Given the description of an element on the screen output the (x, y) to click on. 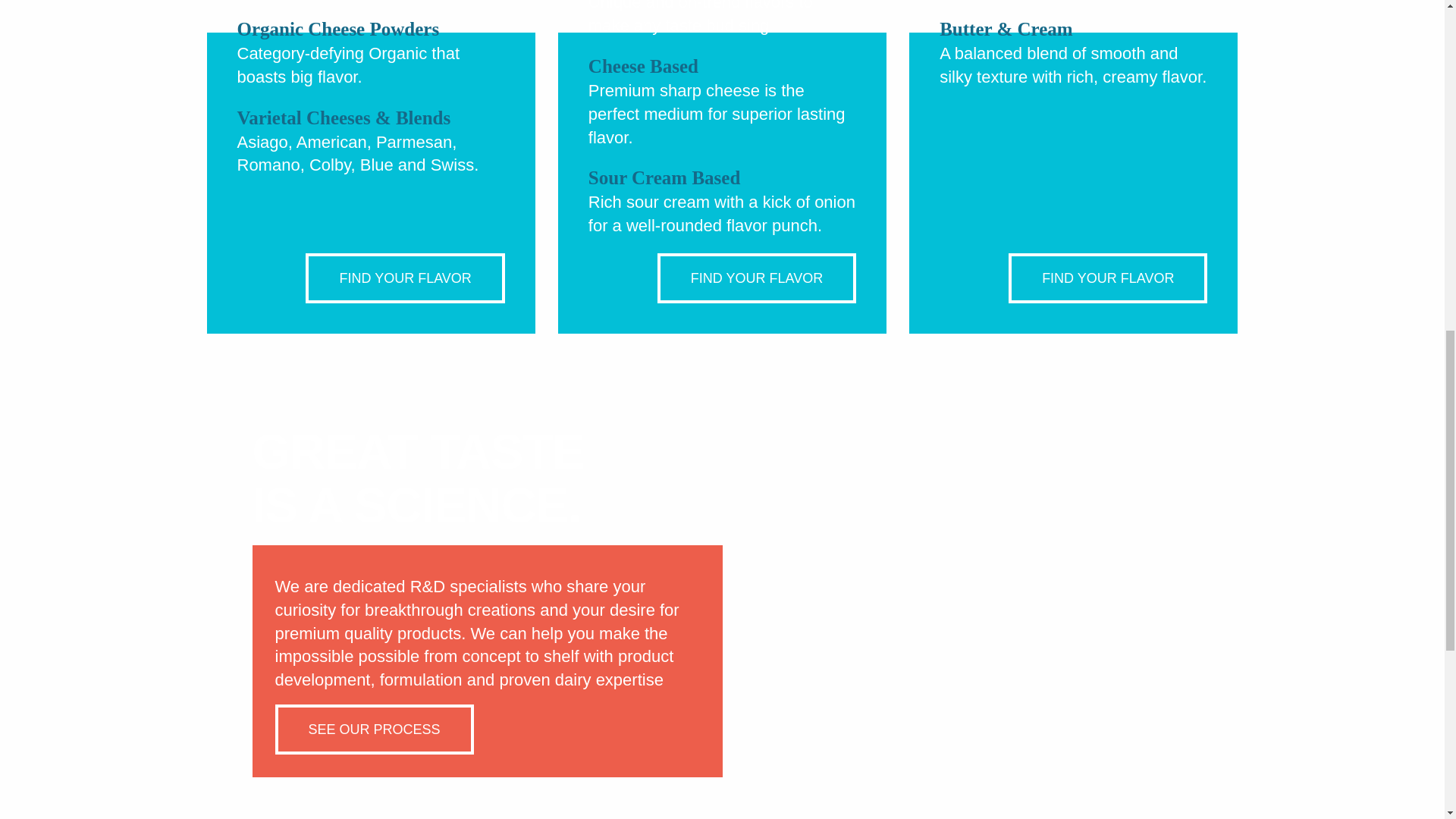
SEE OUR PROCESS (374, 729)
FIND YOUR FLAVOR (757, 278)
FIND YOUR FLAVOR (404, 278)
FIND YOUR FLAVOR (1108, 278)
